Given the description of an element on the screen output the (x, y) to click on. 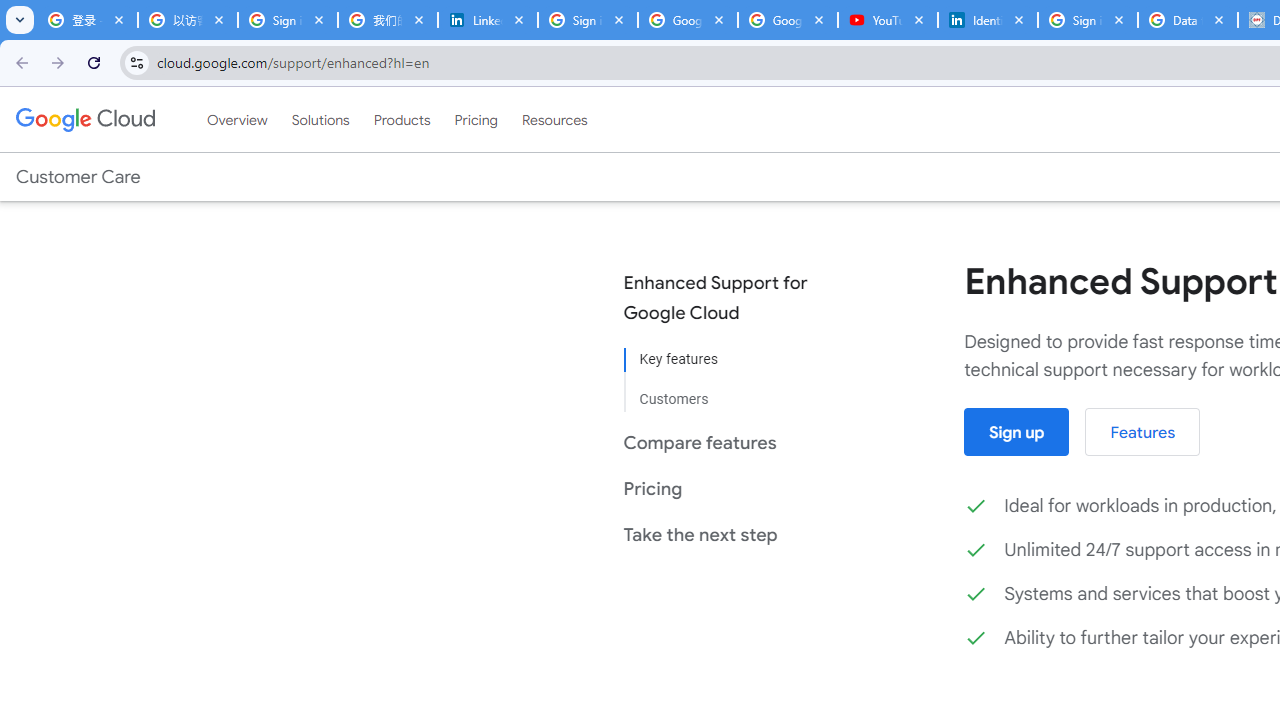
Features (1142, 431)
Customers (730, 391)
Sign up (1016, 431)
Take the next step (730, 534)
Key features (730, 359)
LinkedIn Privacy Policy (487, 20)
